Given the description of an element on the screen output the (x, y) to click on. 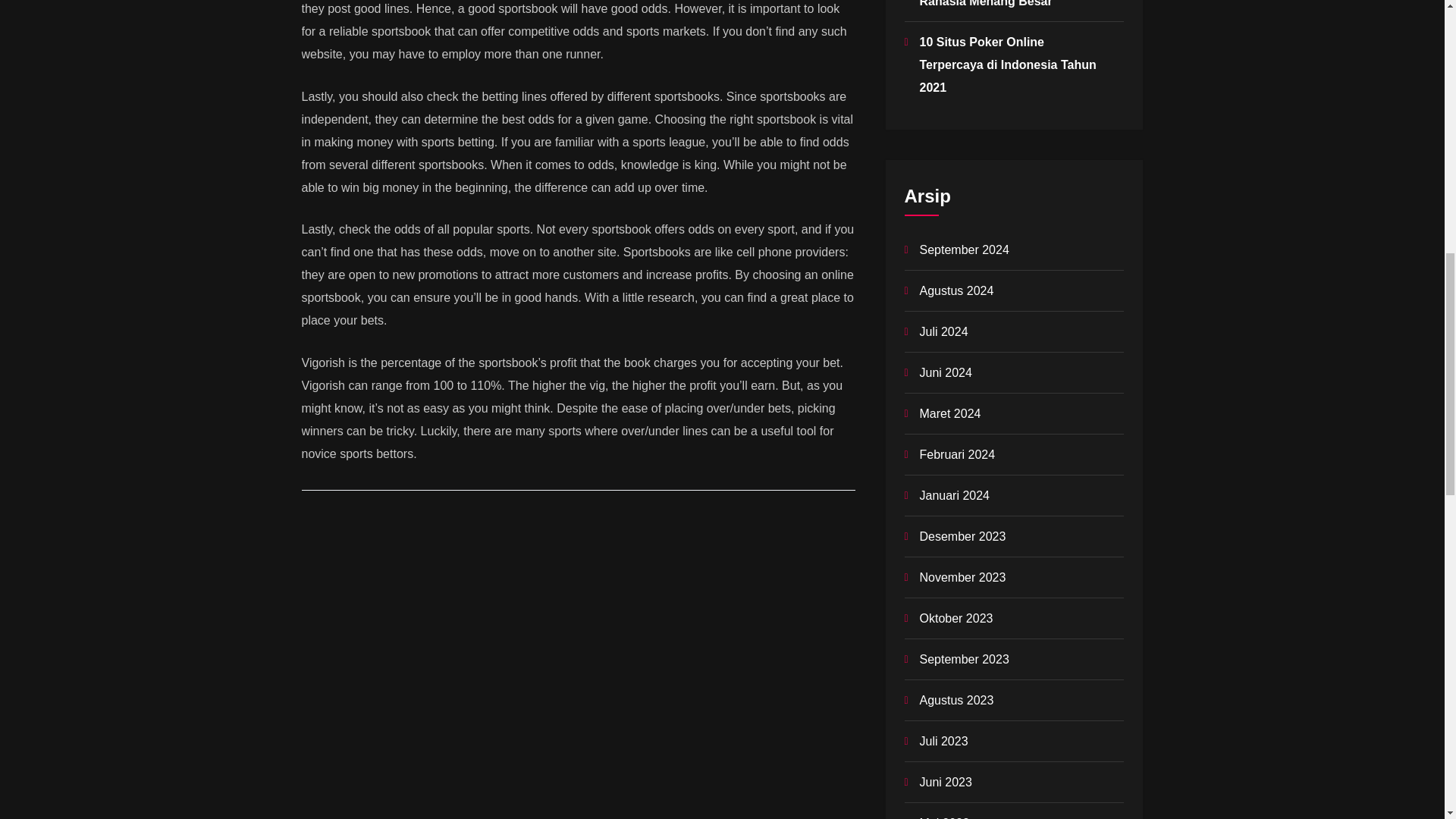
September 2024 (963, 249)
Oktober 2023 (955, 617)
Juni 2024 (944, 372)
Februari 2024 (956, 454)
September 2023 (963, 658)
Desember 2023 (962, 535)
Mei 2023 (943, 817)
Juli 2023 (943, 740)
Agustus 2024 (955, 290)
November 2023 (962, 576)
